Given the description of an element on the screen output the (x, y) to click on. 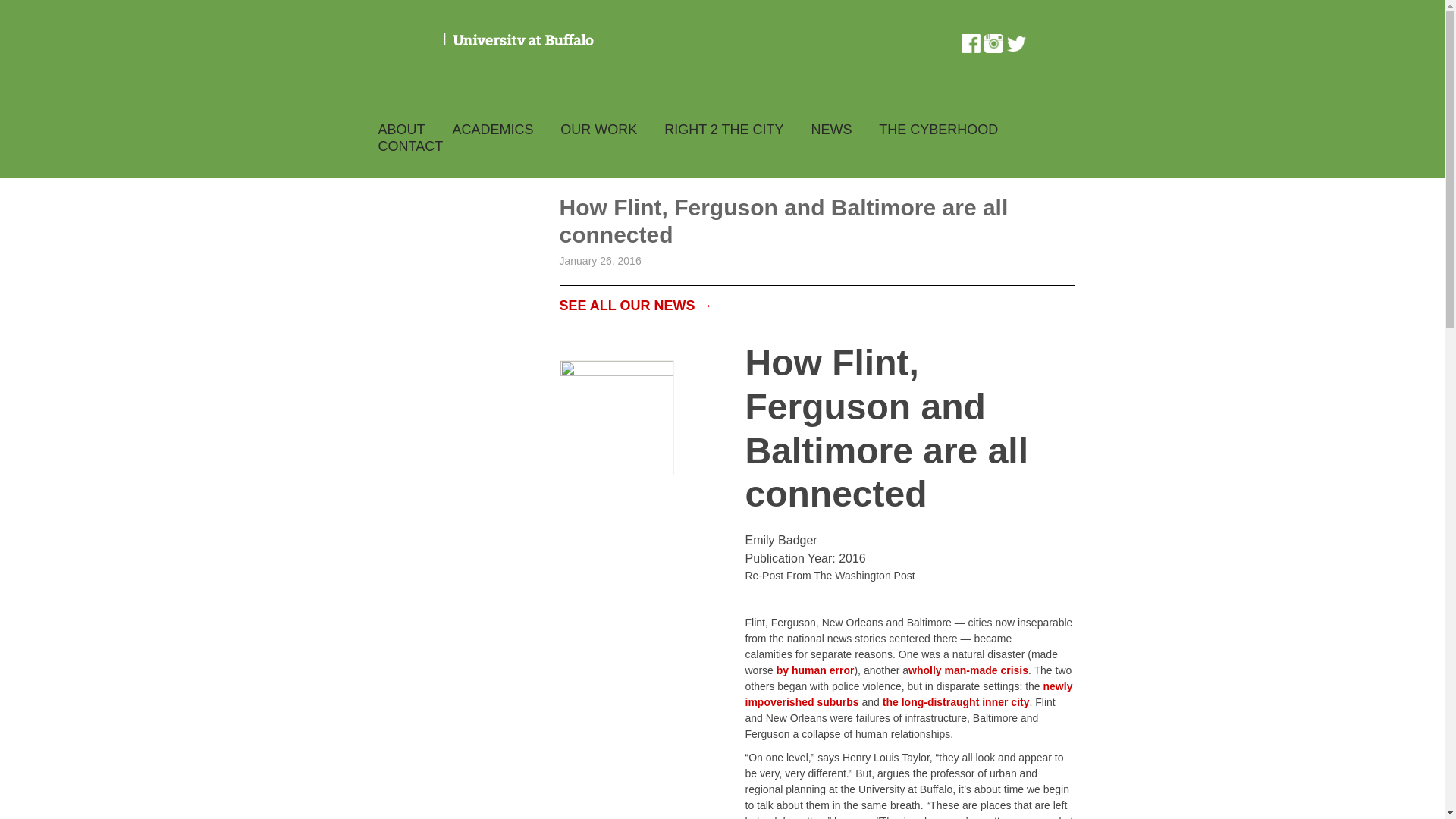
January 26, 2016 (600, 260)
OUR WORK (598, 128)
ABOUT (400, 128)
ACADEMICS (491, 128)
Center for Urban Studies (553, 62)
THE CYBERHOOD (938, 128)
9:59 am (600, 260)
RIGHT 2 THE CITY (723, 128)
CONTACT (409, 146)
NEWS (830, 128)
